Given the description of an element on the screen output the (x, y) to click on. 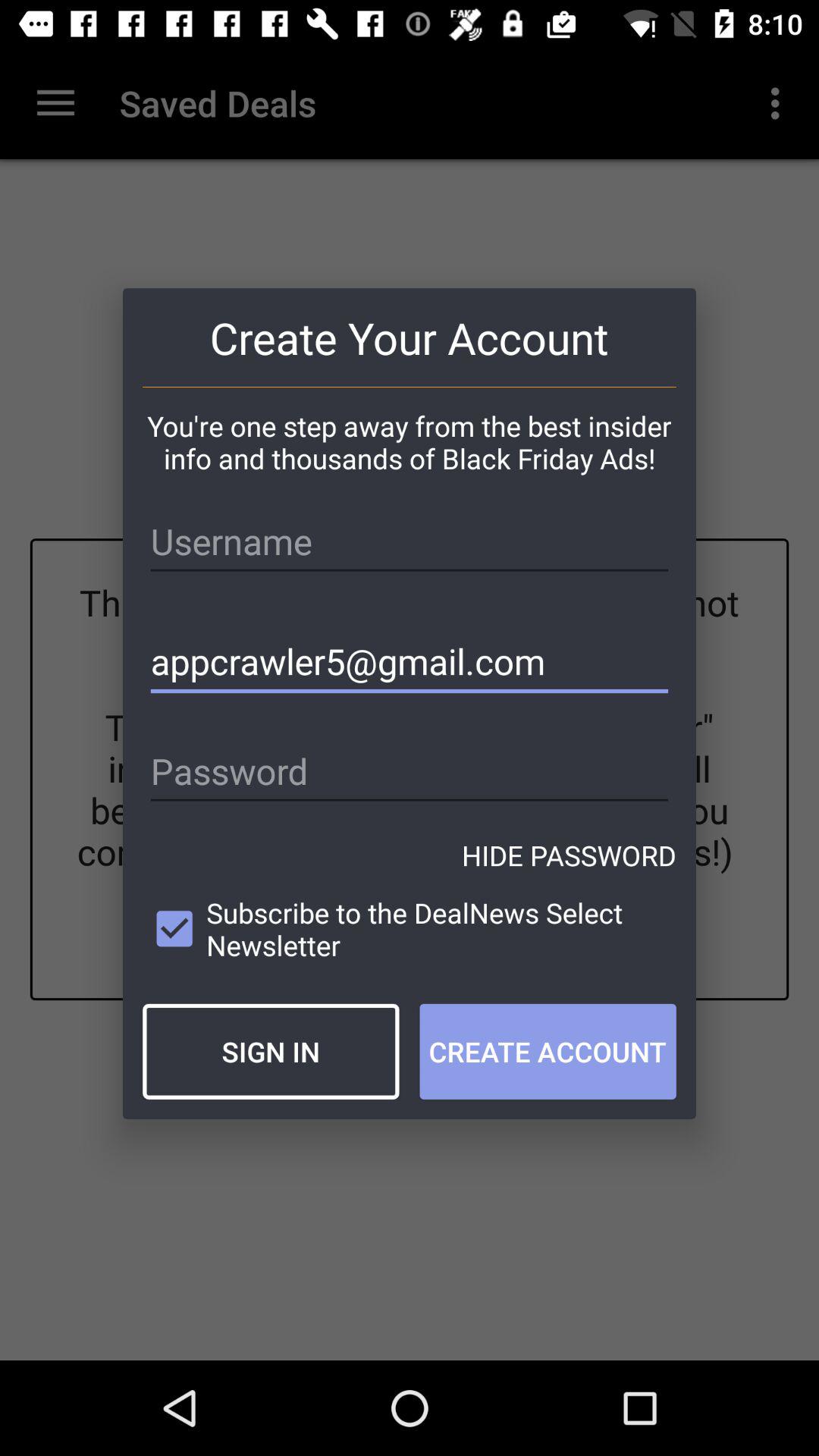
turn off the icon below the hide password item (409, 929)
